Given the description of an element on the screen output the (x, y) to click on. 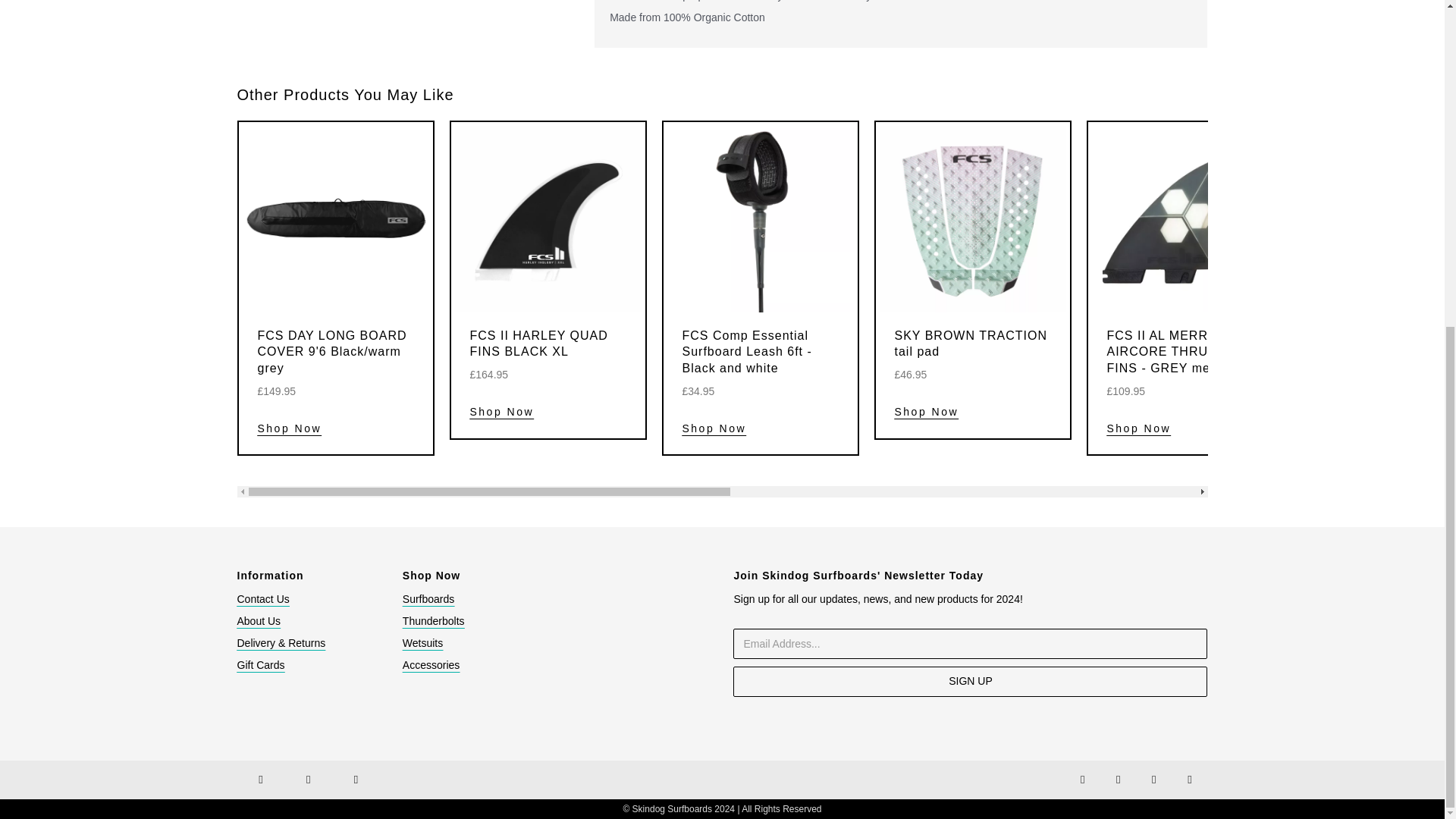
SIGN UP (970, 681)
